Given the description of an element on the screen output the (x, y) to click on. 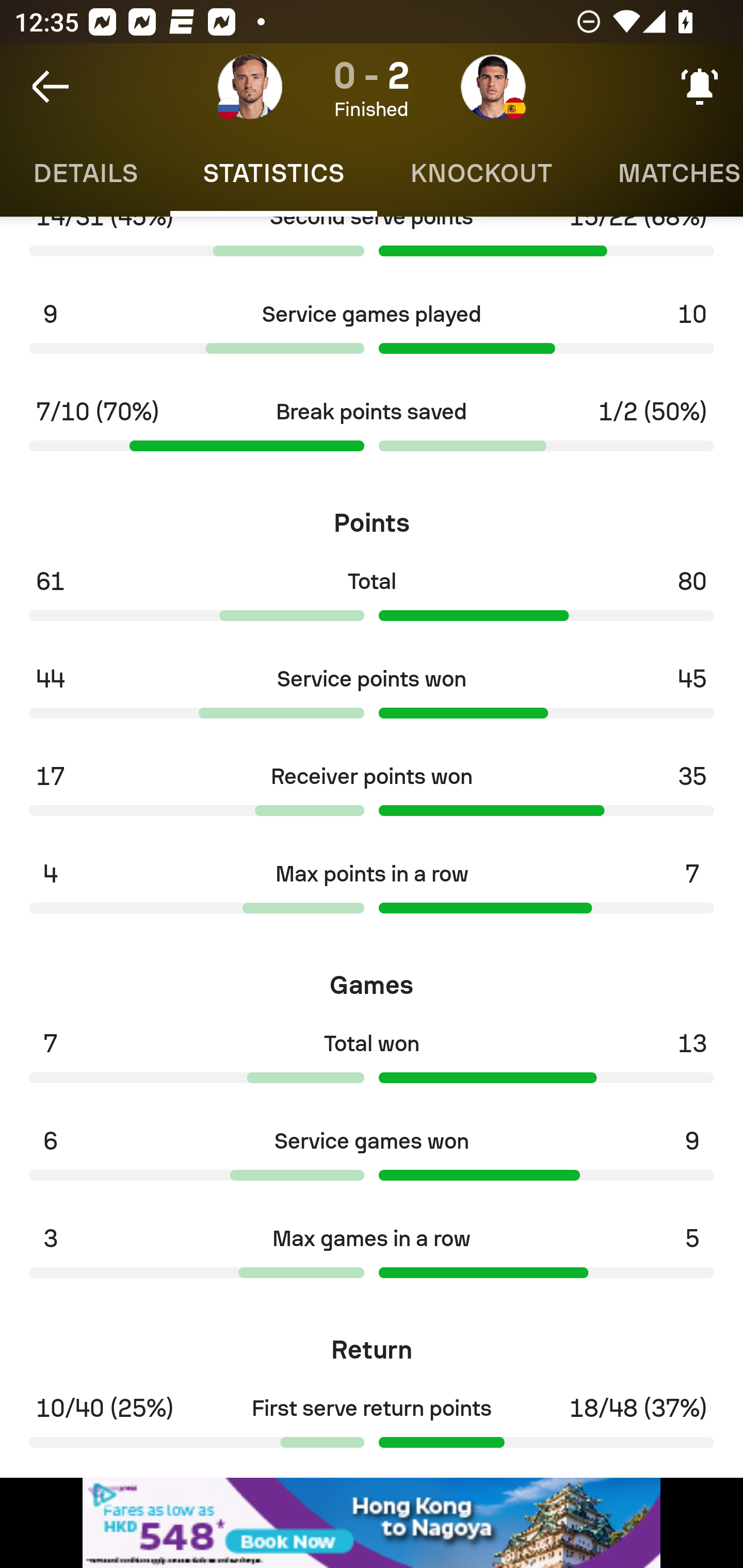
Navigate up (50, 86)
Details DETAILS (85, 173)
Knockout KNOCKOUT (480, 173)
Matches MATCHES (663, 173)
9 Service games played 10 473.0 526.0 (371, 333)
Points (371, 515)
61 Total 80 432.0 567.0 (371, 600)
44 Service points won 45 494.0 505.0 (371, 698)
17 Receiver points won 35 326.0 673.0 (371, 796)
4 Max points in a row 7 363.0 636.0 (371, 893)
Games (371, 978)
7 Total won 13 350.0 650.0 (371, 1062)
6 Service games won 9 400.0 600.0 (371, 1159)
3 Max games in a row 5 375.0 625.0 (371, 1257)
Return (371, 1343)
wi46309w_320x50 (371, 1522)
